Given the description of an element on the screen output the (x, y) to click on. 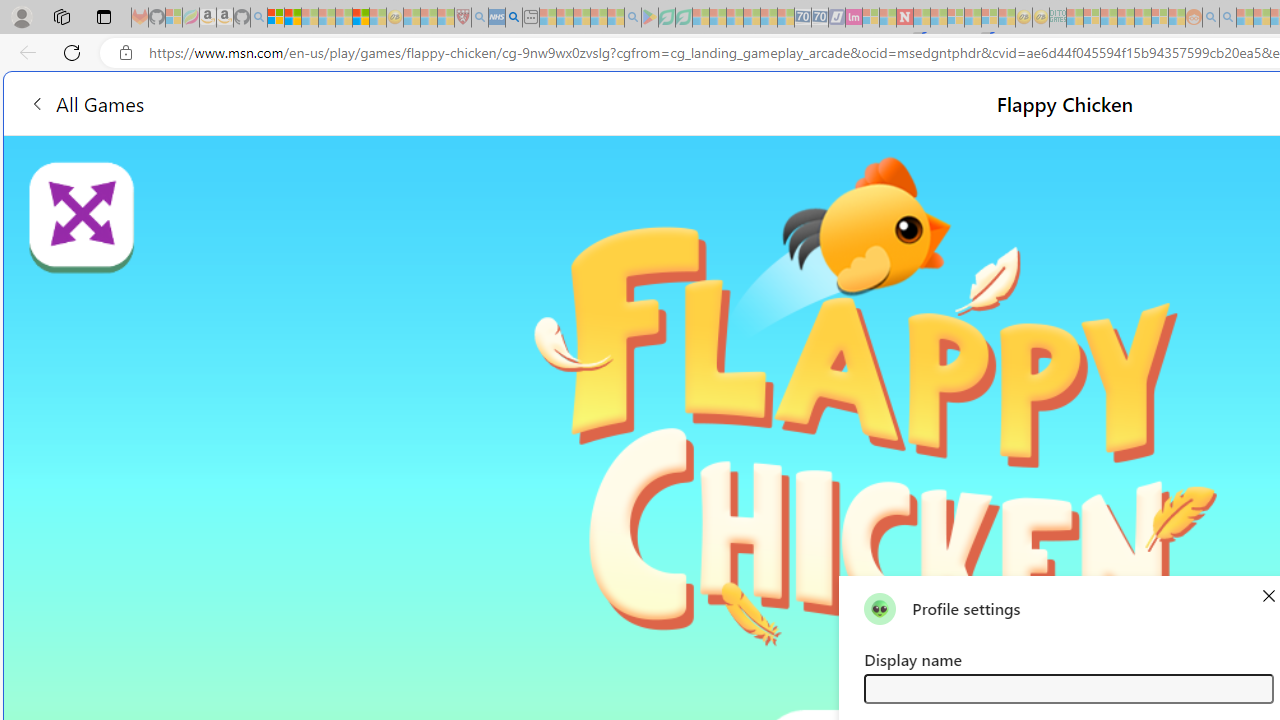
Bluey: Let's Play! - Apps on Google Play - Sleeping (649, 17)
New Report Confirms 2023 Was Record Hot | Watch - Sleeping (343, 17)
Jobs - lastminute.com Investor Portal - Sleeping (853, 17)
Cheap Hotels - Save70.com - Sleeping (819, 17)
Expert Portfolios - Sleeping (1125, 17)
Local - MSN - Sleeping (445, 17)
All Games (86, 102)
